Given the description of an element on the screen output the (x, y) to click on. 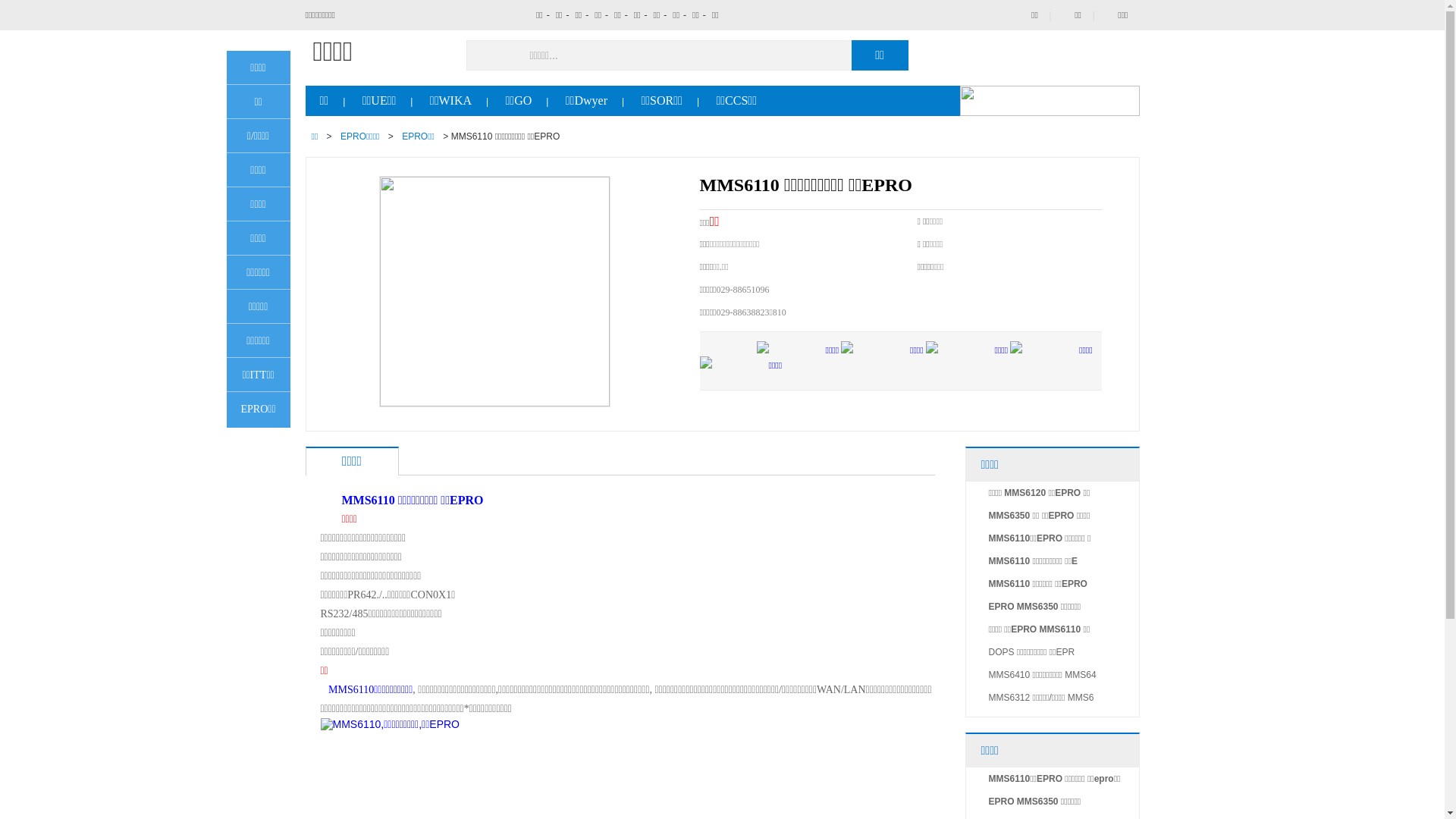
MMS6110 Element type: text (350, 689)
